Given the description of an element on the screen output the (x, y) to click on. 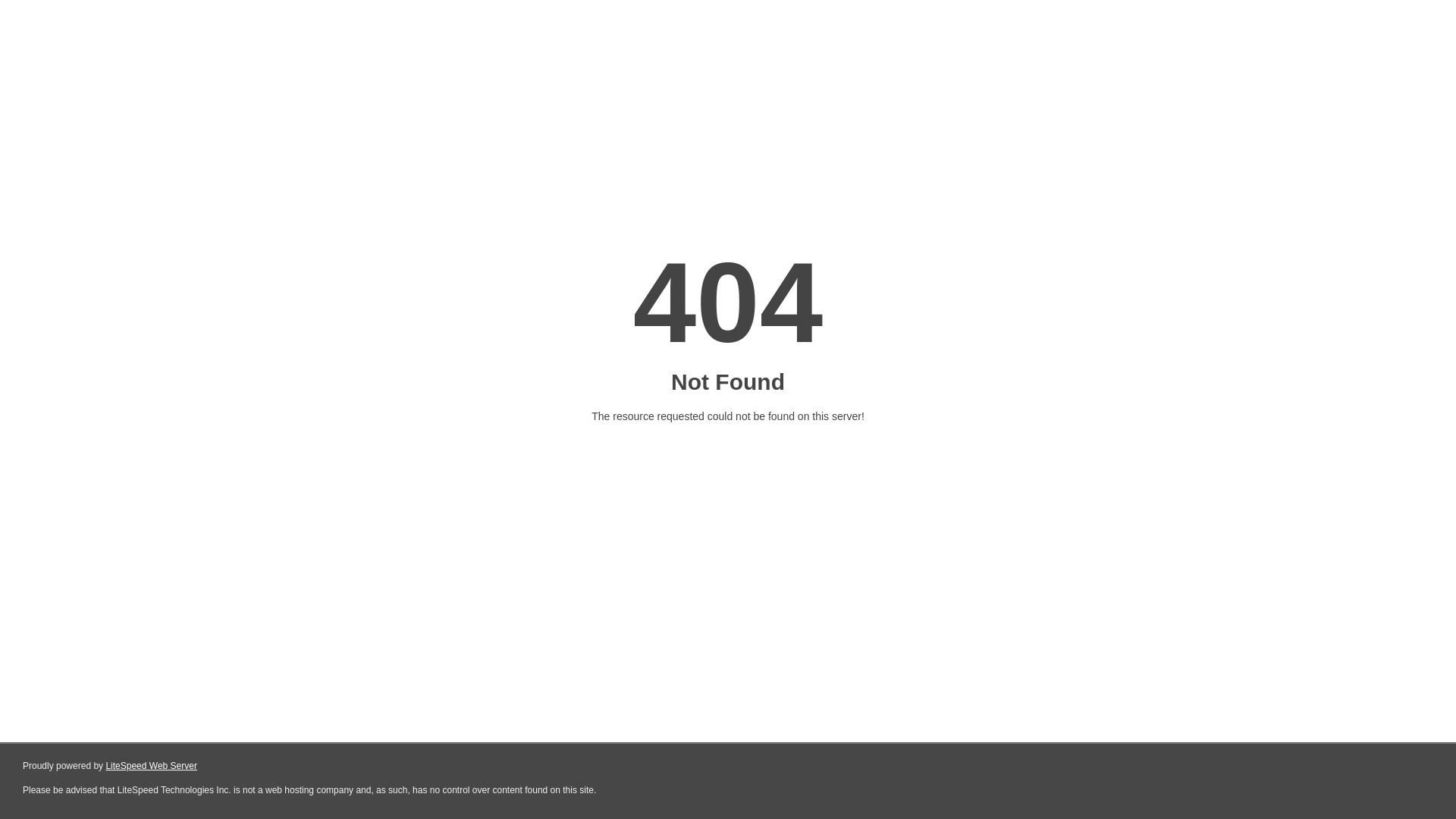
LiteSpeed Web Server (150, 765)
